Given the description of an element on the screen output the (x, y) to click on. 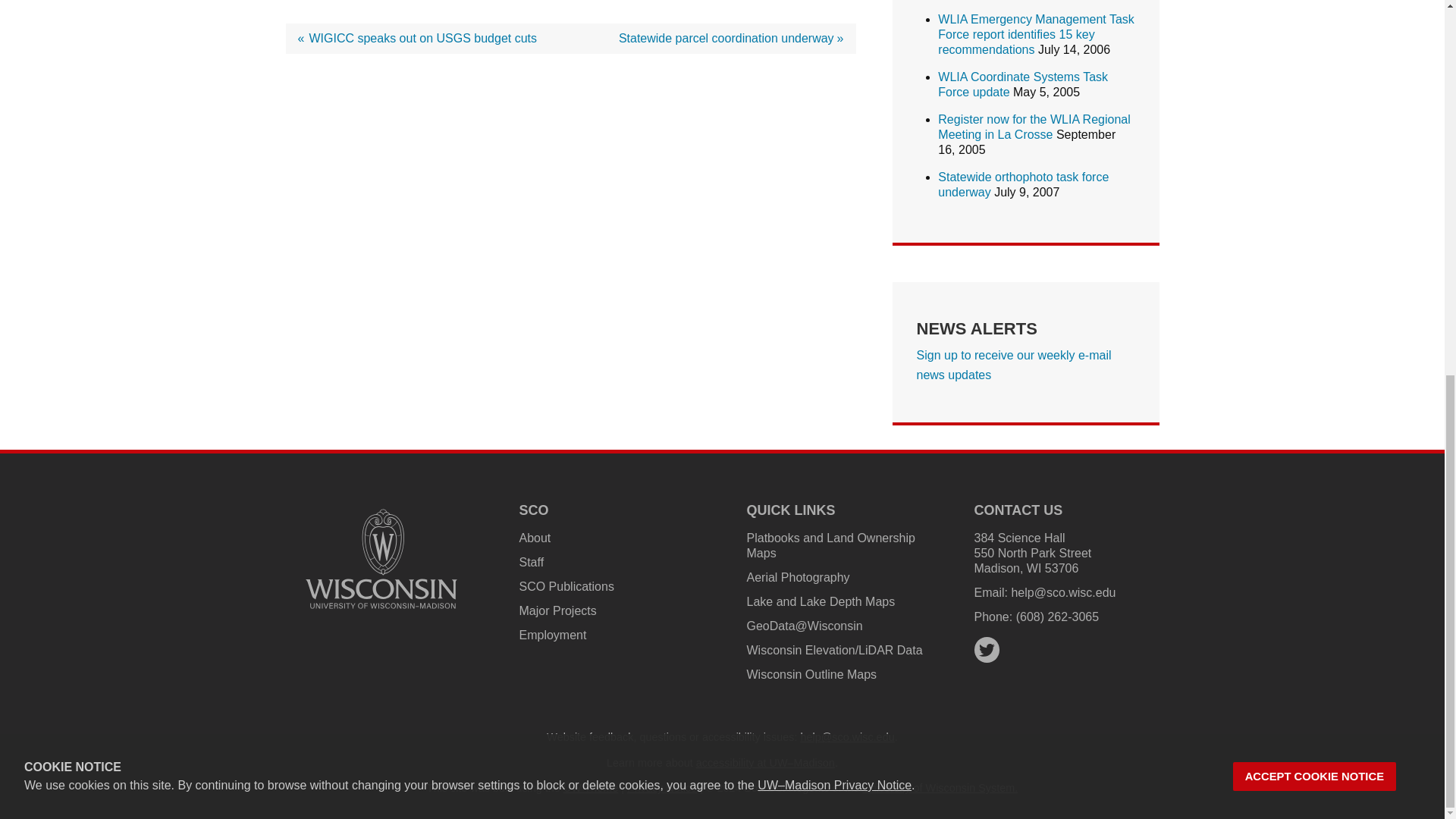
University logo that links to main university website (380, 558)
twitter (986, 650)
ACCEPT COOKIE NOTICE (1314, 88)
